Given the description of an element on the screen output the (x, y) to click on. 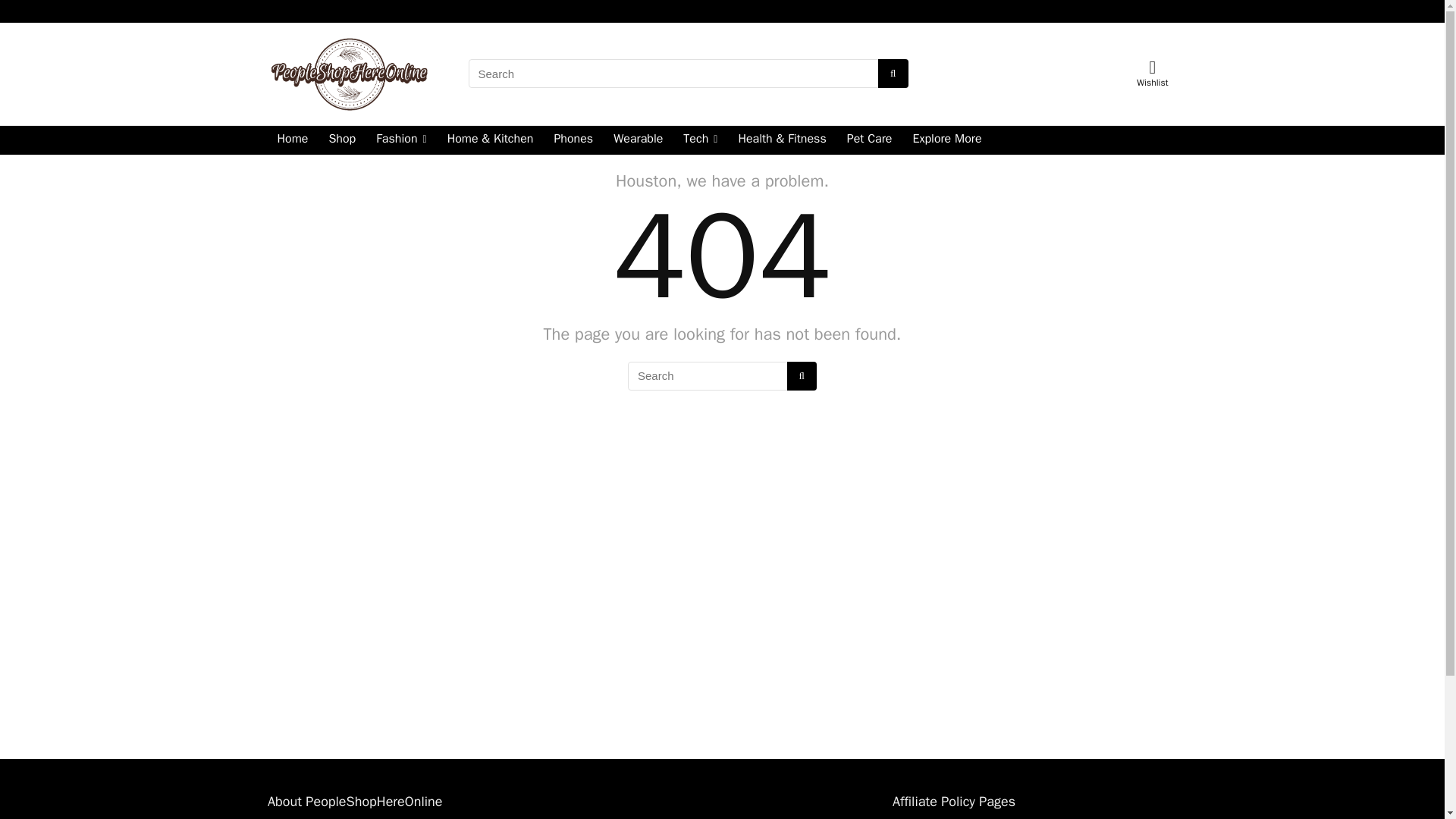
Tech (699, 140)
Pet Care (869, 140)
Fashion (400, 140)
Explore More (946, 140)
Wearable (638, 140)
Phones (572, 140)
Home (291, 140)
Shop (341, 140)
